Given the description of an element on the screen output the (x, y) to click on. 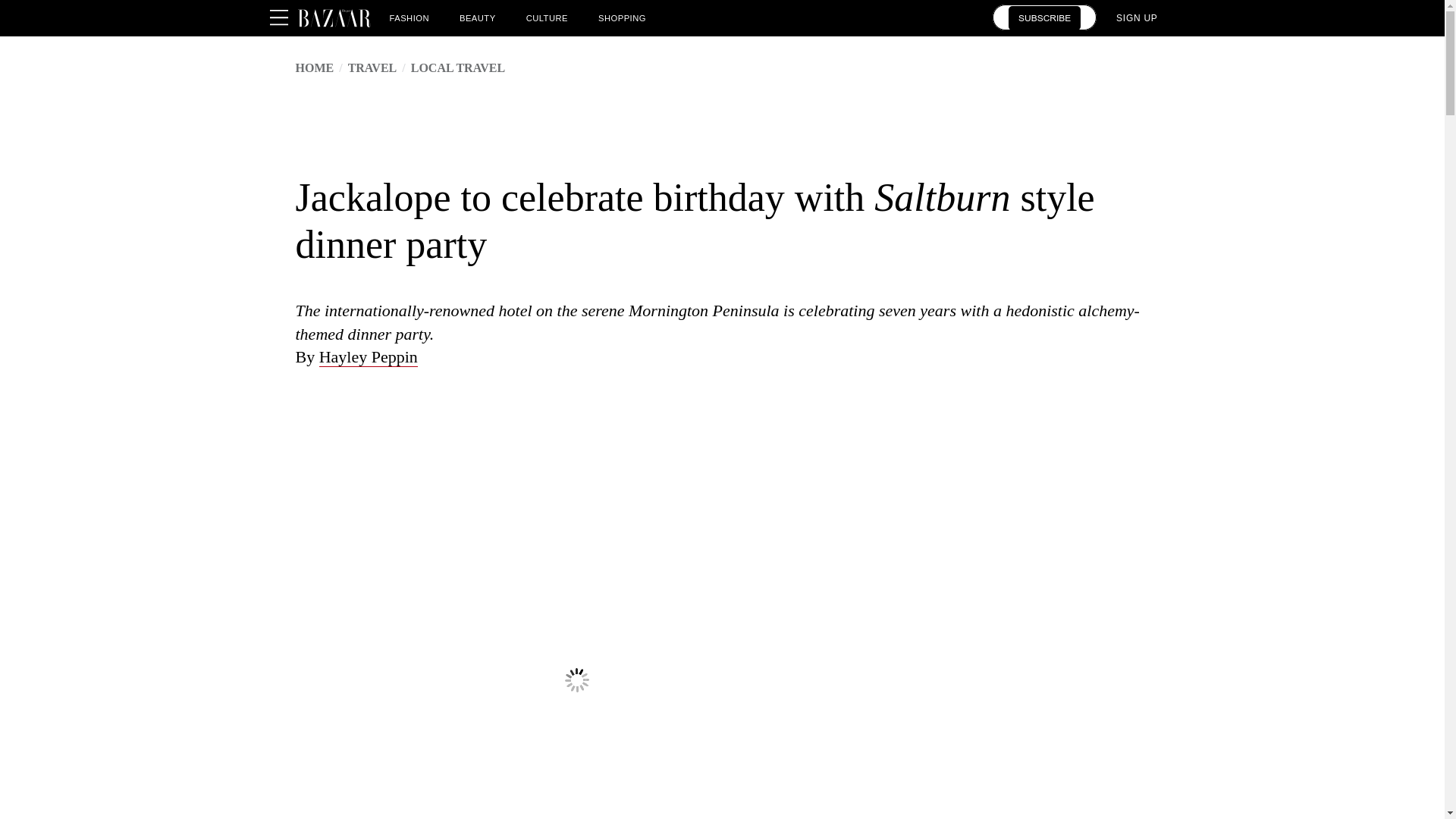
SHOPPING (622, 17)
FASHION (409, 17)
HOME (314, 67)
TRAVEL (372, 67)
CULTURE (546, 17)
Go to the Travel category archives. (372, 67)
Hayley Peppin (367, 356)
LOCAL TRAVEL (457, 67)
Go to the Local Travel category archives. (457, 67)
BEAUTY (478, 17)
